Given the description of an element on the screen output the (x, y) to click on. 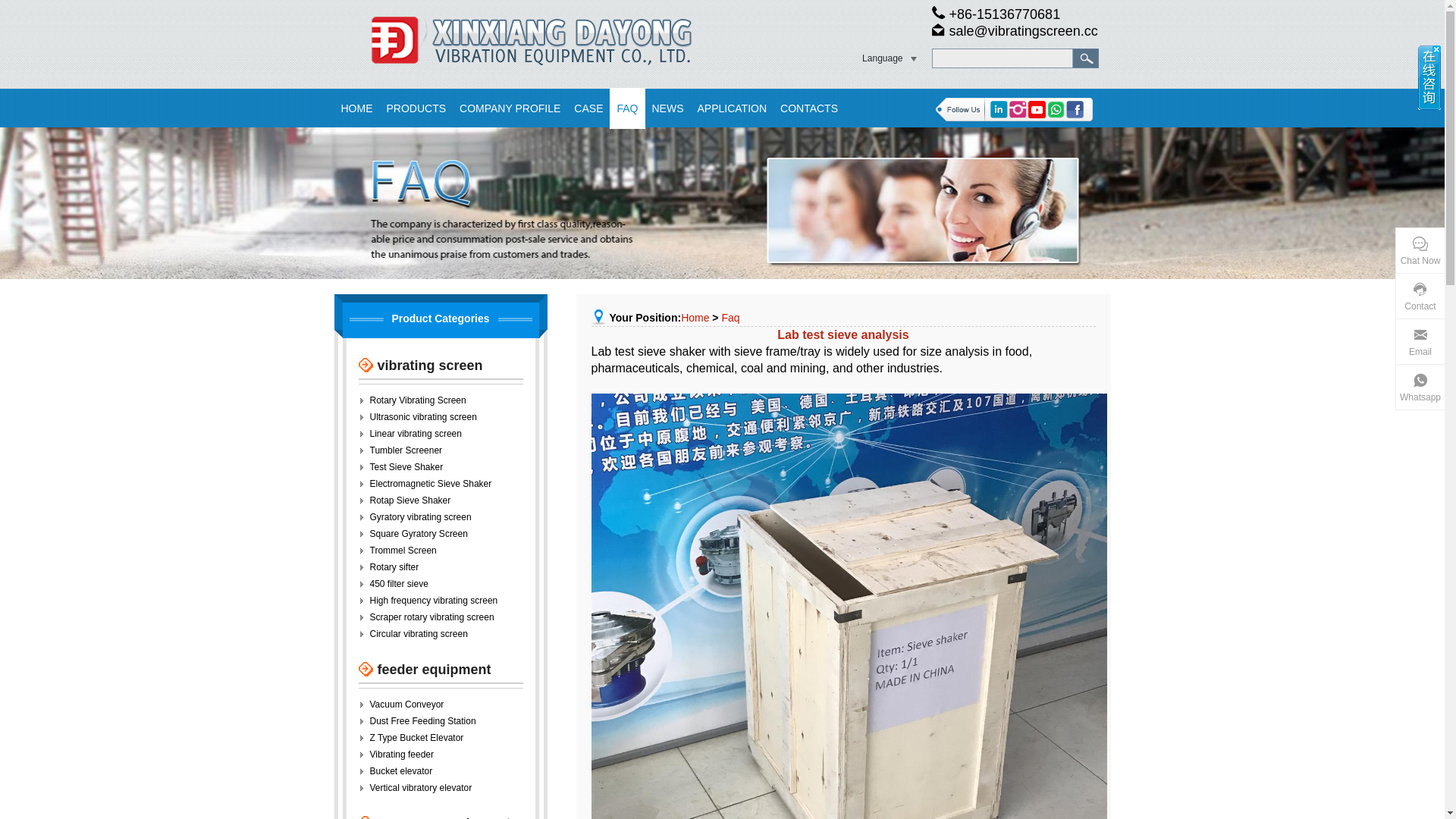
Dust Free Feeding Station Element type: text (423, 720)
Rotary Vibrating Screen Element type: text (418, 400)
+86-15136770681 Element type: text (995, 13)
FAQ Element type: text (626, 107)
Product Categories Element type: text (439, 318)
Home Element type: text (694, 317)
HOME Element type: text (356, 107)
High frequency vibrating screen Element type: text (434, 600)
Bucket elevator Element type: text (401, 770)
CASE Element type: text (588, 107)
Email Element type: text (1420, 341)
Rotap Sieve Shaker Element type: text (410, 500)
Tumbler Screener Element type: text (406, 450)
Scraper rotary vibrating screen Element type: text (432, 616)
vibrating screen Element type: text (419, 365)
APPLICATION Element type: text (731, 107)
COMPANY PROFILE Element type: text (509, 107)
Chat Now Element type: text (1420, 250)
Contact Element type: text (1420, 296)
CONTACTS Element type: text (808, 107)
sale@vibratingscreen.cc Element type: text (1014, 30)
Test Sieve Shaker Element type: text (406, 466)
Circular vibrating screen Element type: text (418, 633)
Gyratory vibrating screen Element type: text (420, 516)
Square Gyratory Screen Element type: text (418, 533)
450 filter sieve Element type: text (399, 583)
feeder equipment Element type: text (423, 669)
Ultrasonic vibrating screen Element type: text (423, 416)
Faq Element type: text (730, 317)
Rotary sifter Element type: text (394, 566)
NEWS Element type: text (667, 107)
Linear vibrating screen Element type: text (415, 433)
Z Type Bucket Elevator Element type: text (417, 737)
PRODUCTS Element type: text (415, 107)
Whatsapp Element type: text (1420, 387)
Vacuum Conveyor Element type: text (407, 704)
Vertical vibratory elevator Element type: text (421, 787)
Trommel Screen Element type: text (403, 550)
Vibrating feeder Element type: text (402, 754)
Electromagnetic Sieve Shaker Element type: text (431, 483)
